Given the description of an element on the screen output the (x, y) to click on. 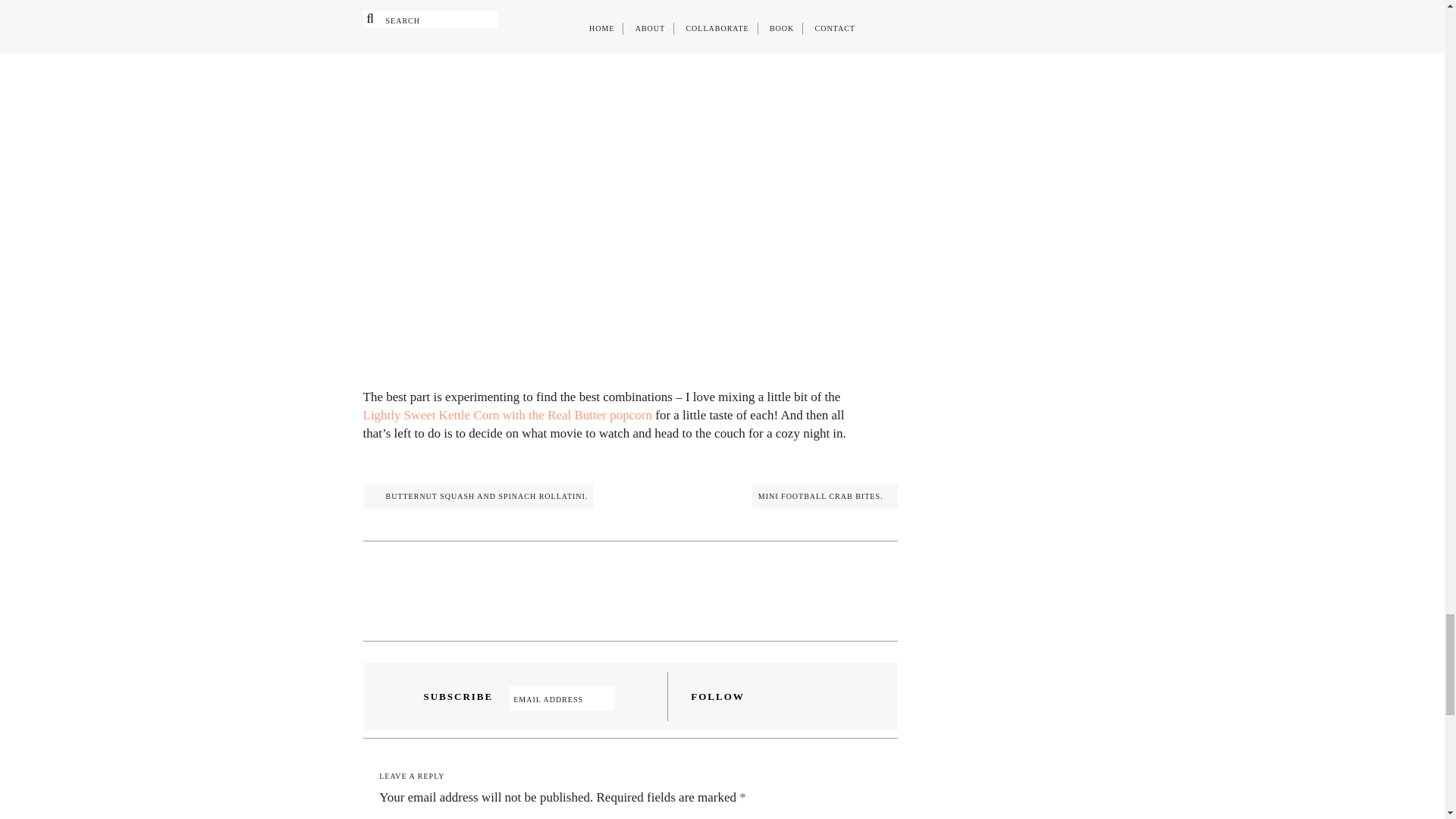
MINI FOOTBALL CRAB BITES. (825, 496)
Subscribe (627, 697)
Subscribe (627, 697)
Lightly Sweet Kettle Corn with the Real Butter popcorn (506, 414)
BUTTERNUT SQUASH AND SPINACH ROLLATINI. (478, 496)
